Given the description of an element on the screen output the (x, y) to click on. 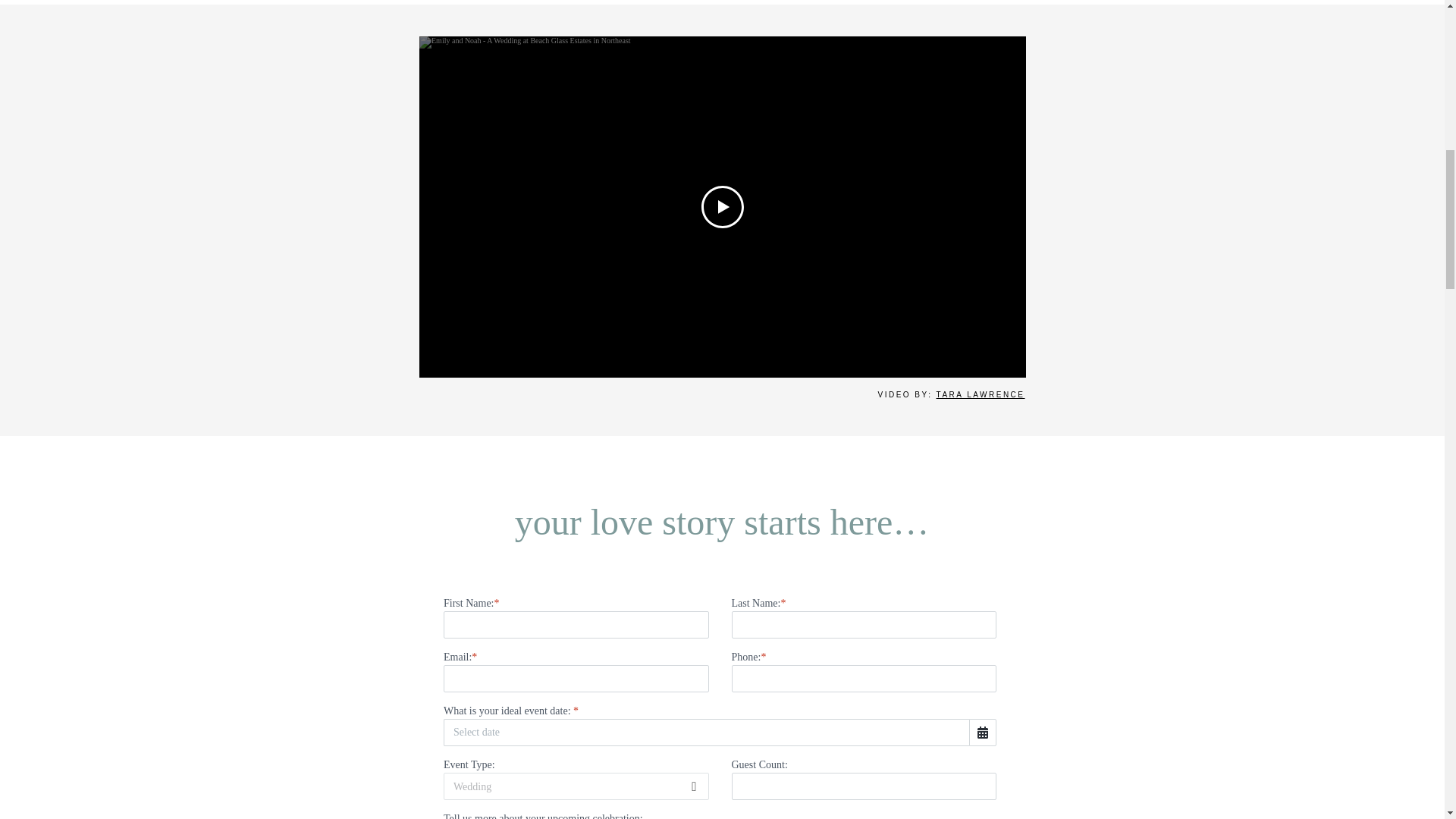
TARA LAWRENCE (980, 394)
